Given the description of an element on the screen output the (x, y) to click on. 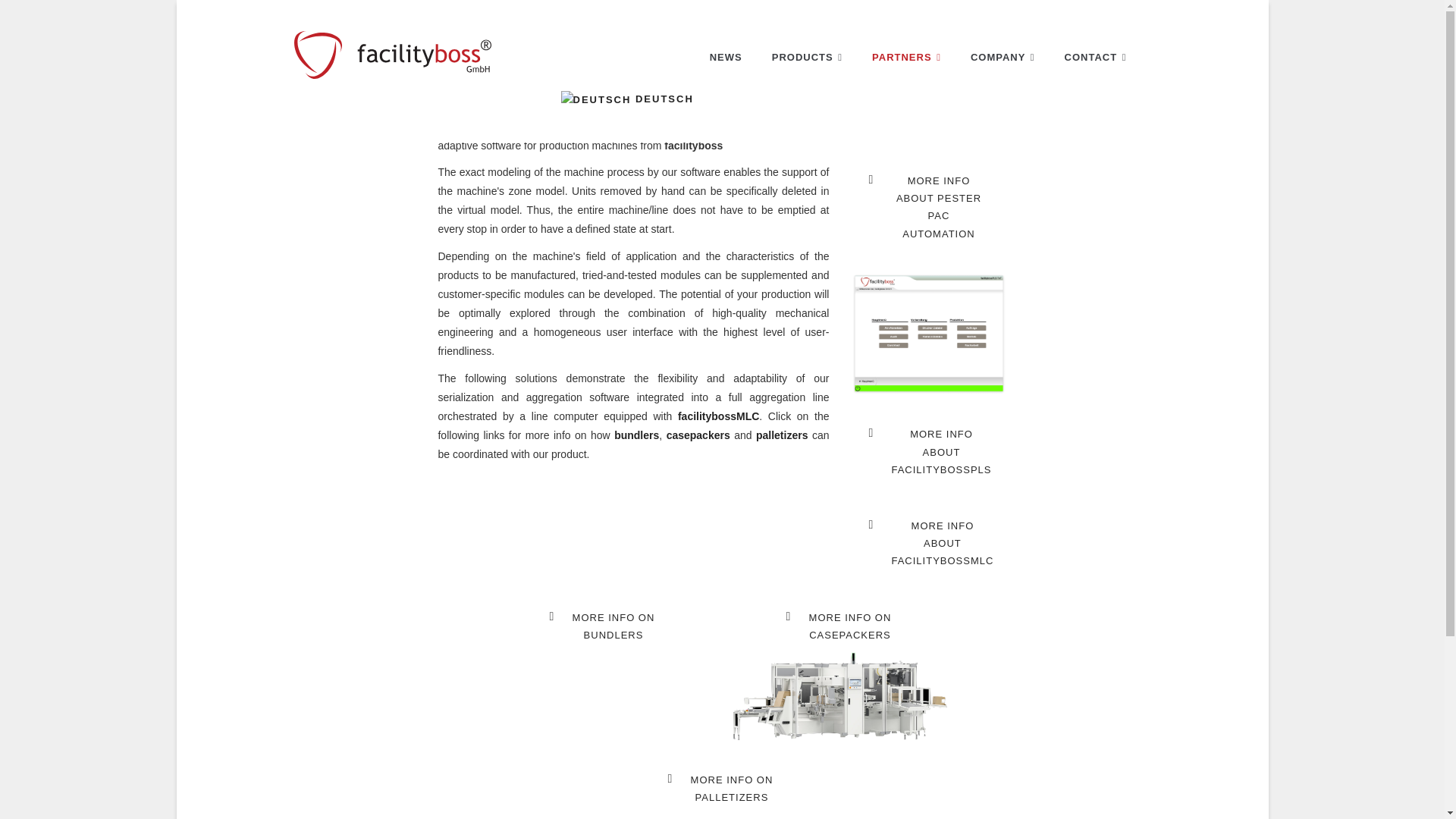
DEUTSCH (627, 99)
MORE INFO ABOUT FACILITYBOSSPLS (931, 451)
facilitybossMLC (718, 416)
palletizers (781, 435)
Deutsch (841, 626)
casepackers (595, 99)
bundlers (603, 626)
